Given the description of an element on the screen output the (x, y) to click on. 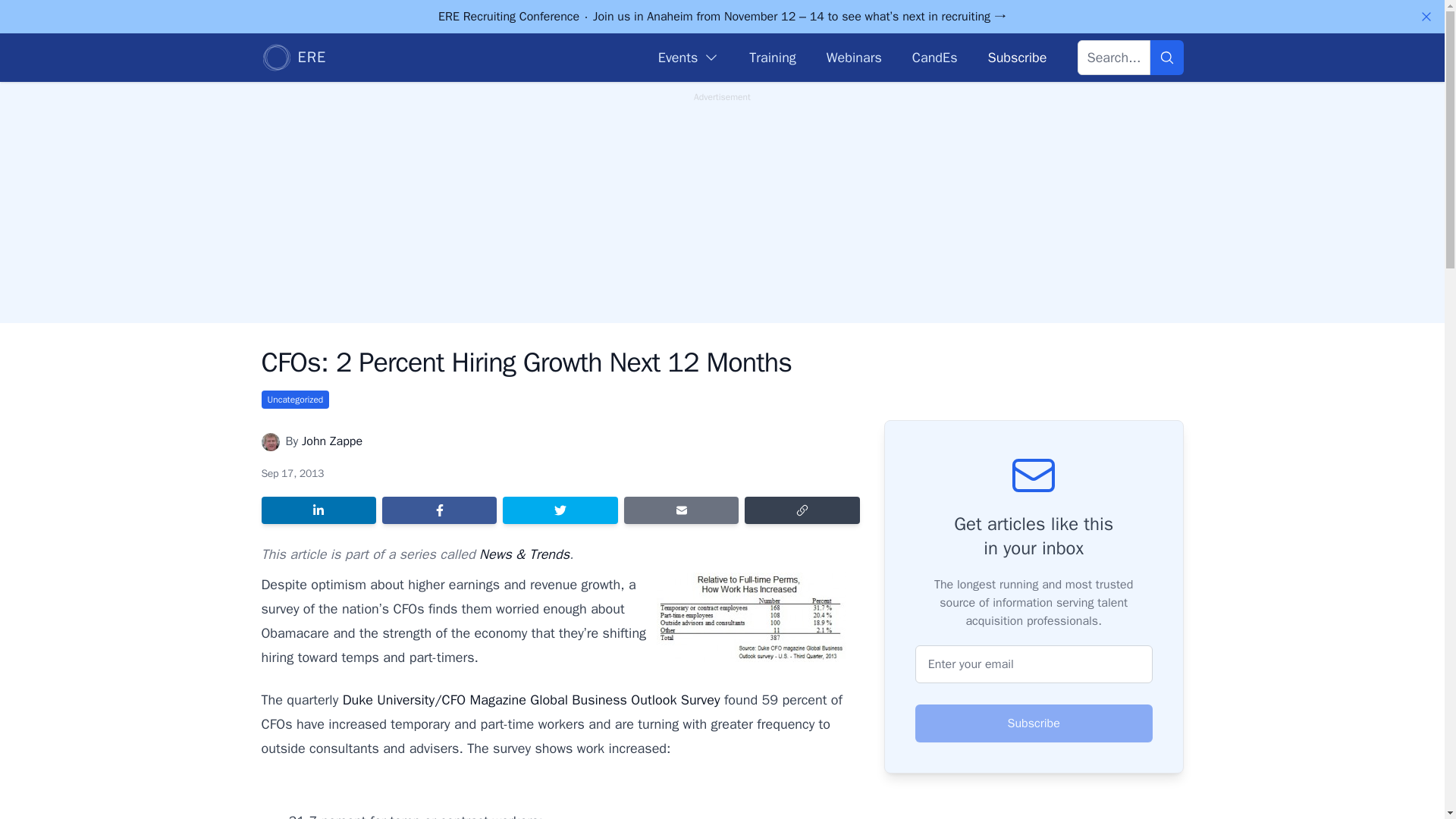
Uncategorized (294, 399)
Dismiss (1425, 16)
Training (771, 56)
Events (688, 56)
CFO Survey website  (531, 699)
ERE (293, 57)
John Zappe (331, 441)
Webinars (854, 56)
Subscribe (1016, 56)
CandEs (935, 56)
Subscribe (1034, 723)
